Given the description of an element on the screen output the (x, y) to click on. 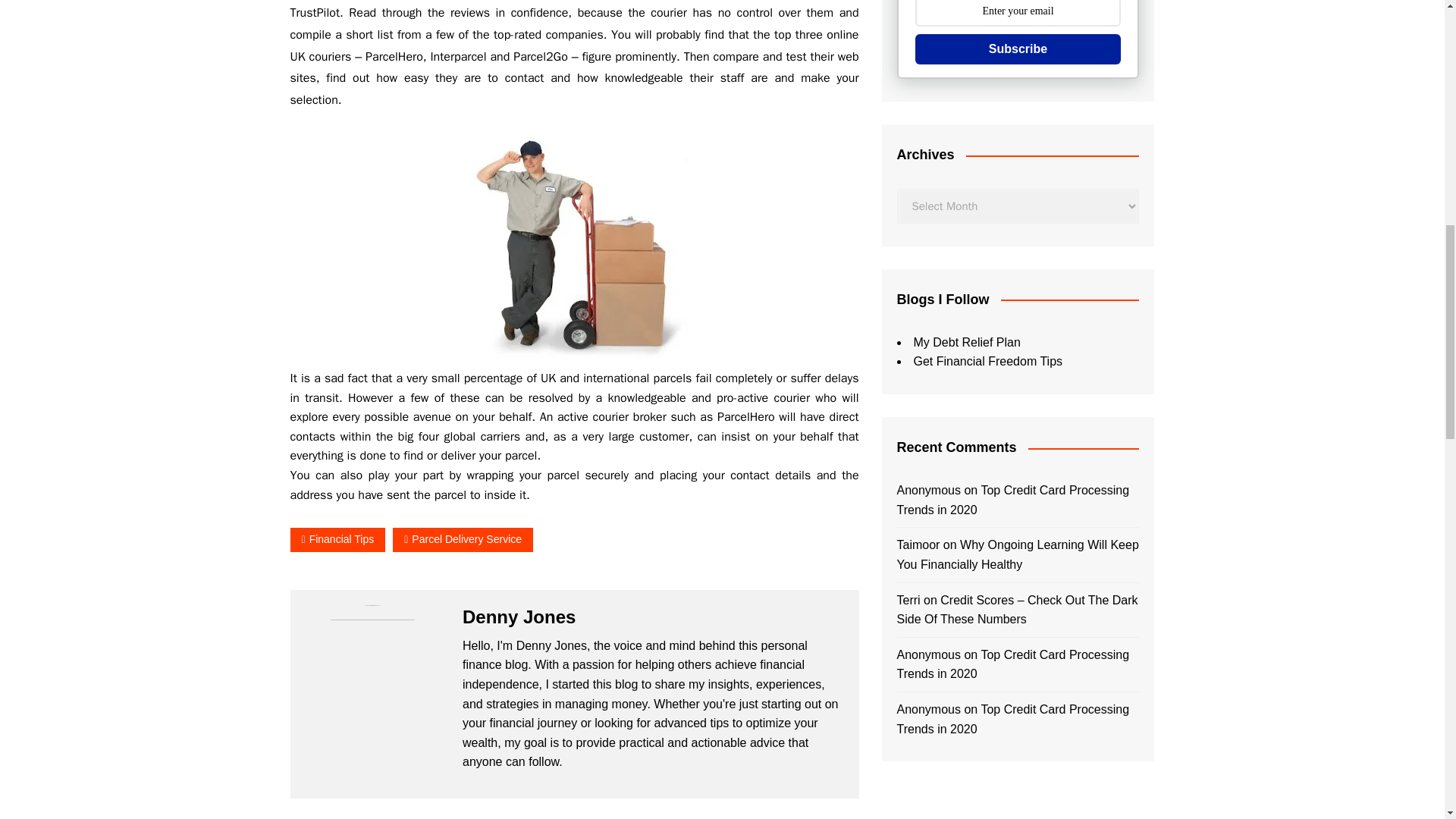
Financial Tips (337, 539)
Parcel Delivery Service (462, 539)
